Given the description of an element on the screen output the (x, y) to click on. 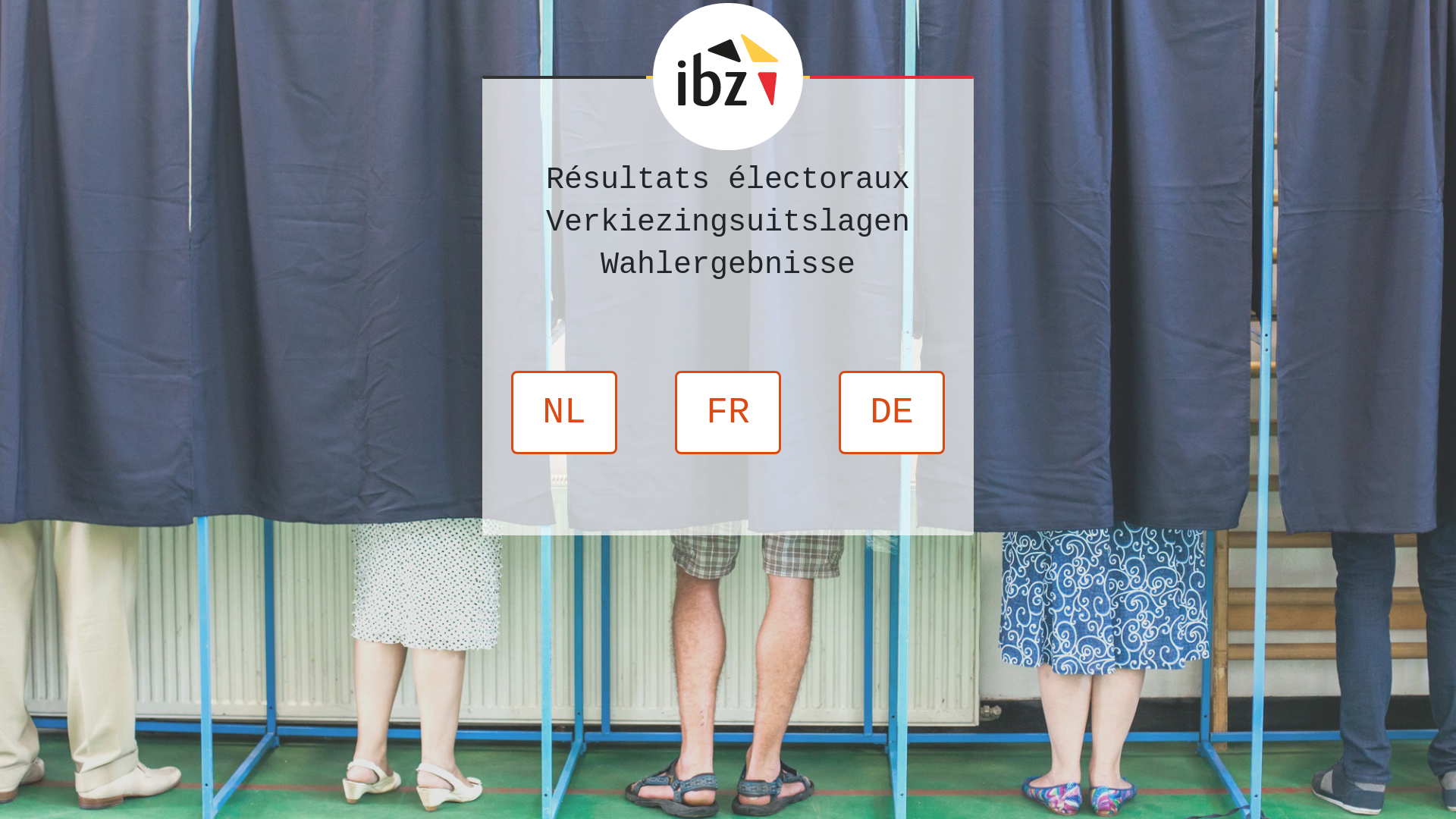
NL Element type: text (564, 412)
DE Element type: text (891, 412)
FR Element type: text (727, 412)
